Given the description of an element on the screen output the (x, y) to click on. 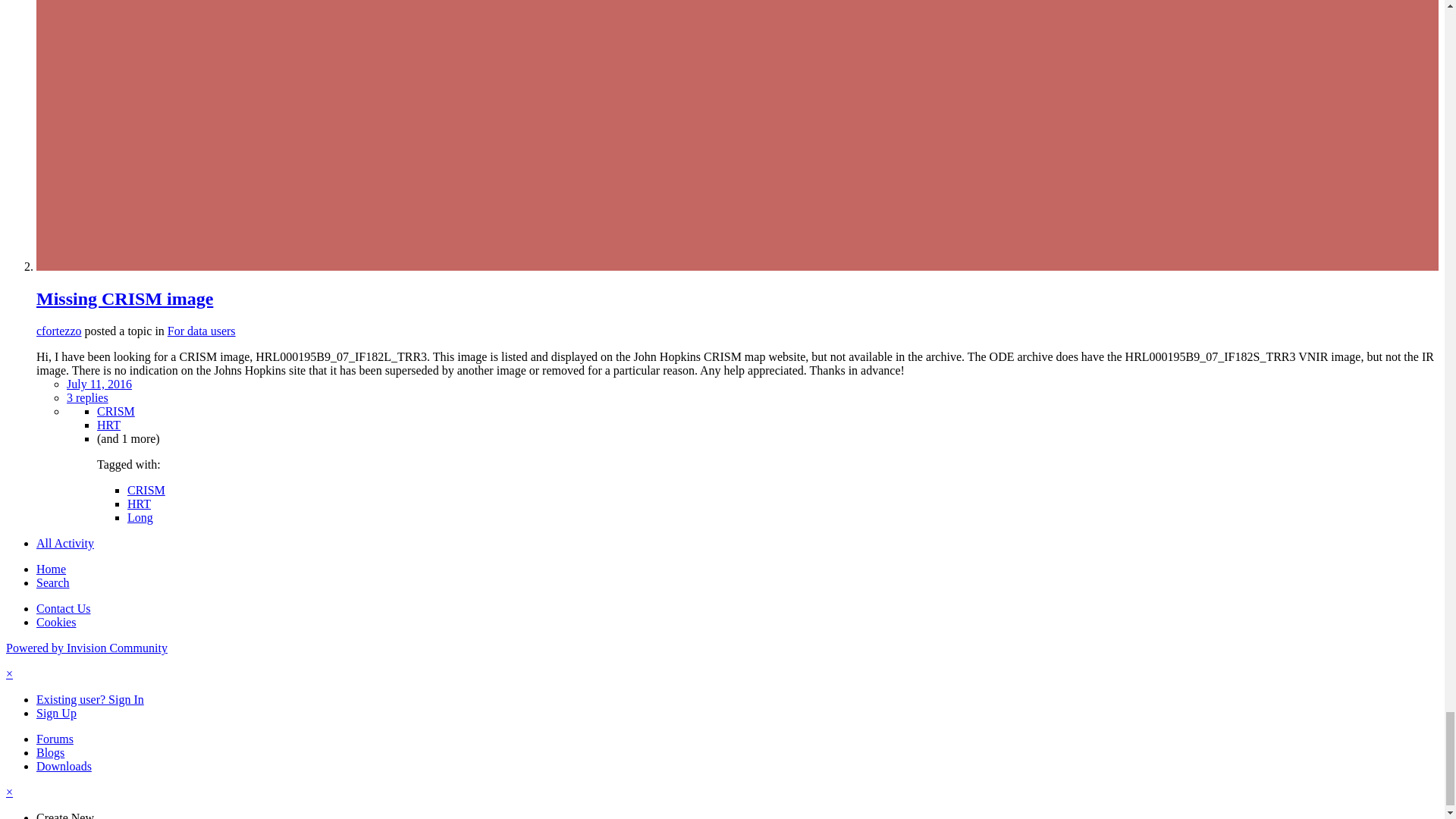
Find other content tagged with 'CRISM' (116, 410)
Go to cfortezzo's profile (58, 330)
